Given the description of an element on the screen output the (x, y) to click on. 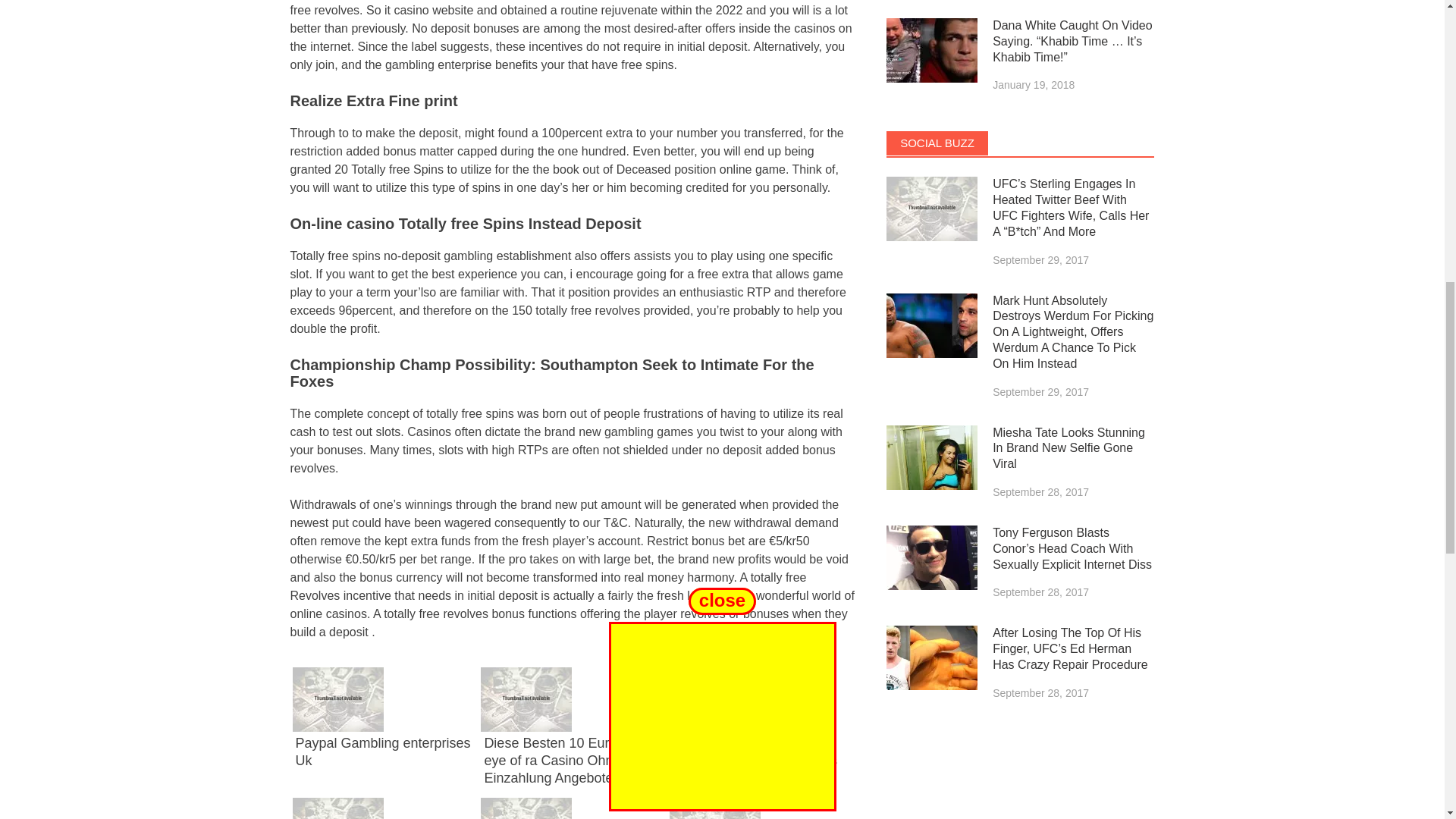
Paypal Gambling enterprises Uk (382, 751)
Miesha Tate Looks Stunning In Brand New Selfie Gone Viral (931, 457)
